Given the description of an element on the screen output the (x, y) to click on. 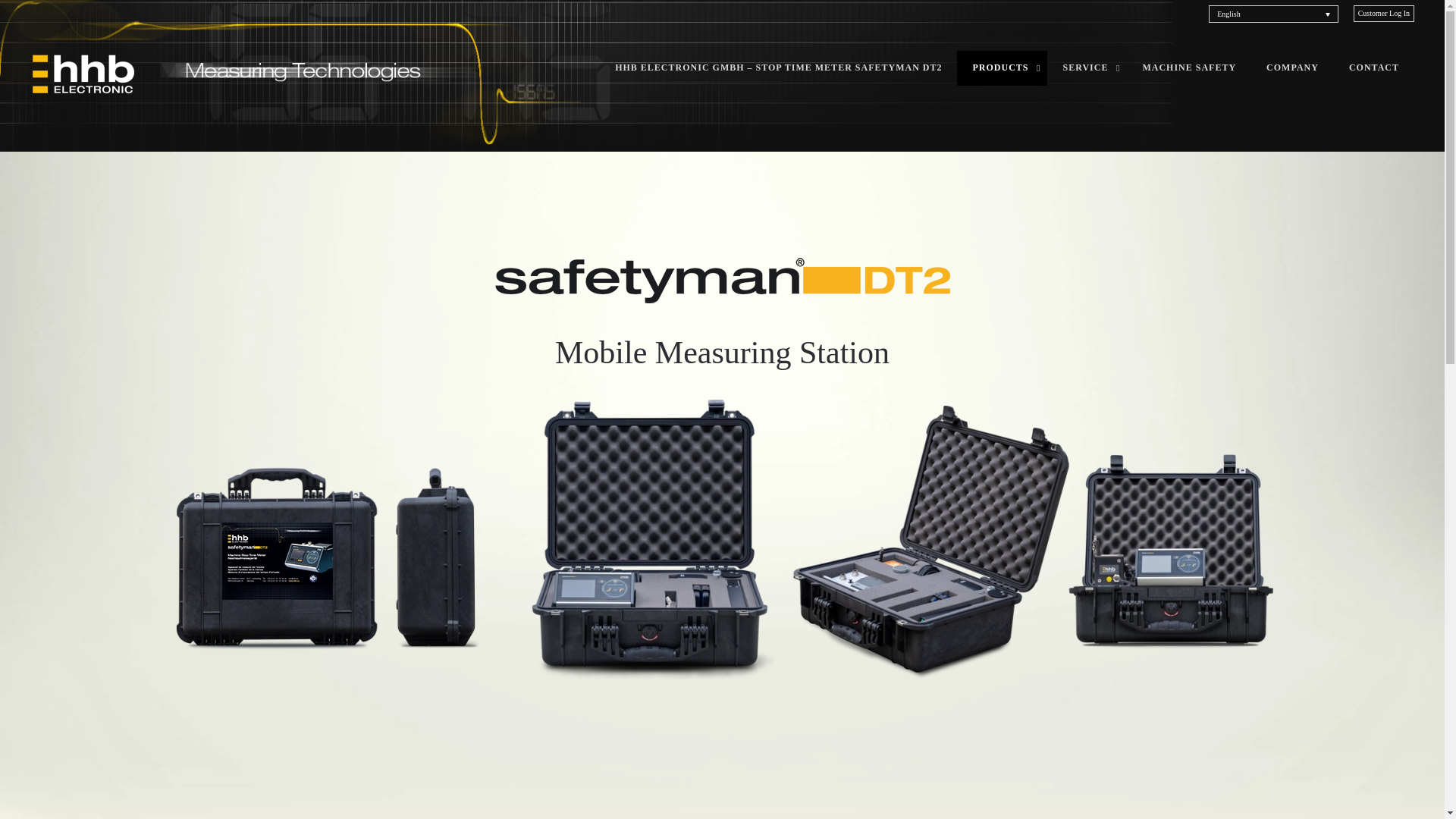
SERVICE (1086, 67)
COMPANY (1291, 67)
Customer Log In (1383, 13)
English (1273, 13)
PRODUCTS (1001, 67)
MACHINE SAFETY (1188, 67)
CONTACT (1373, 67)
